Given the description of an element on the screen output the (x, y) to click on. 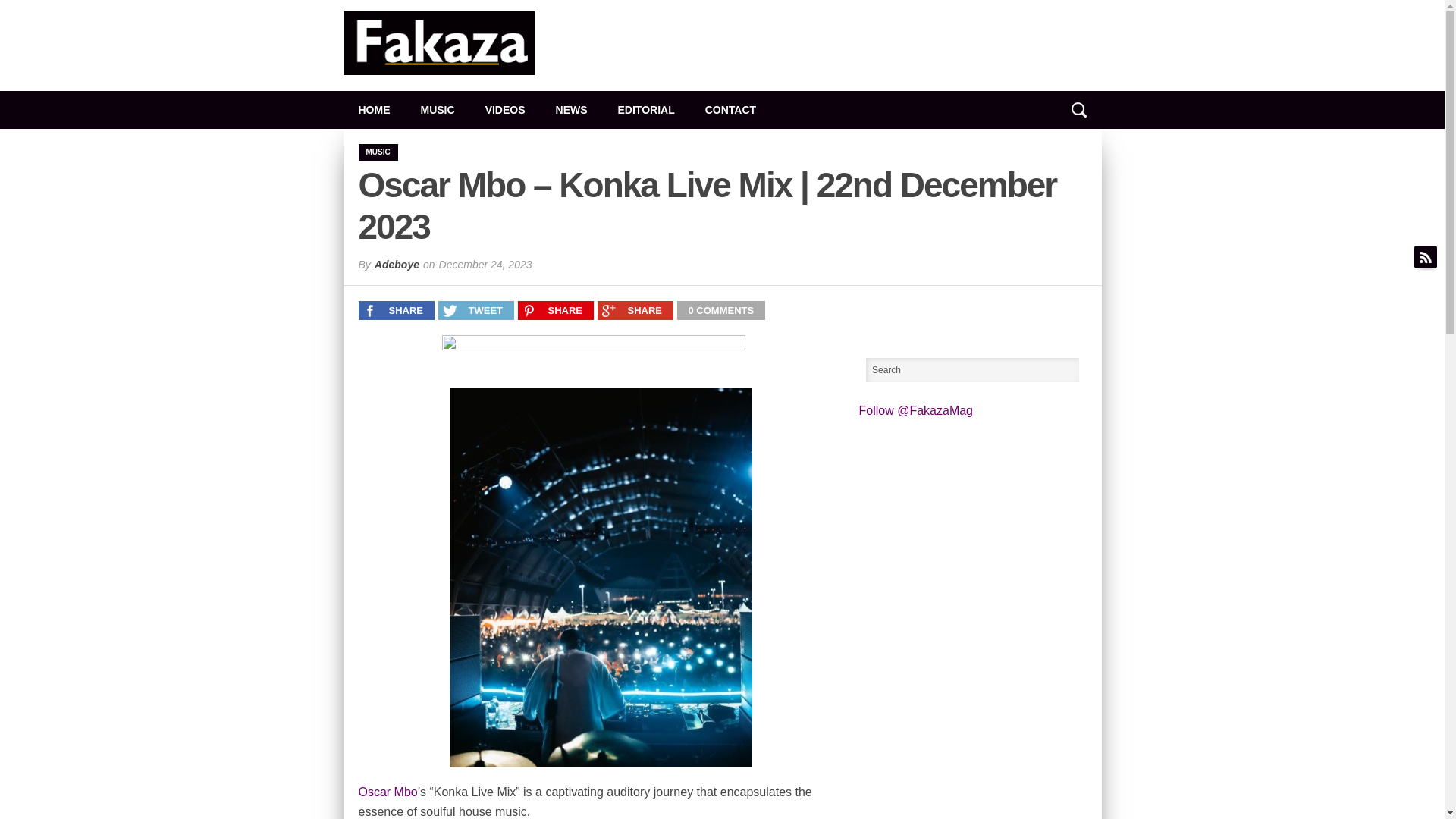
EDITORIAL (646, 109)
HOME (373, 109)
VIDEOS (505, 109)
NEWS (571, 109)
Oscar Mbo (387, 791)
MUSIC (436, 109)
Oscar Mbo (387, 791)
CONTACT (730, 109)
Search (973, 369)
